Given the description of an element on the screen output the (x, y) to click on. 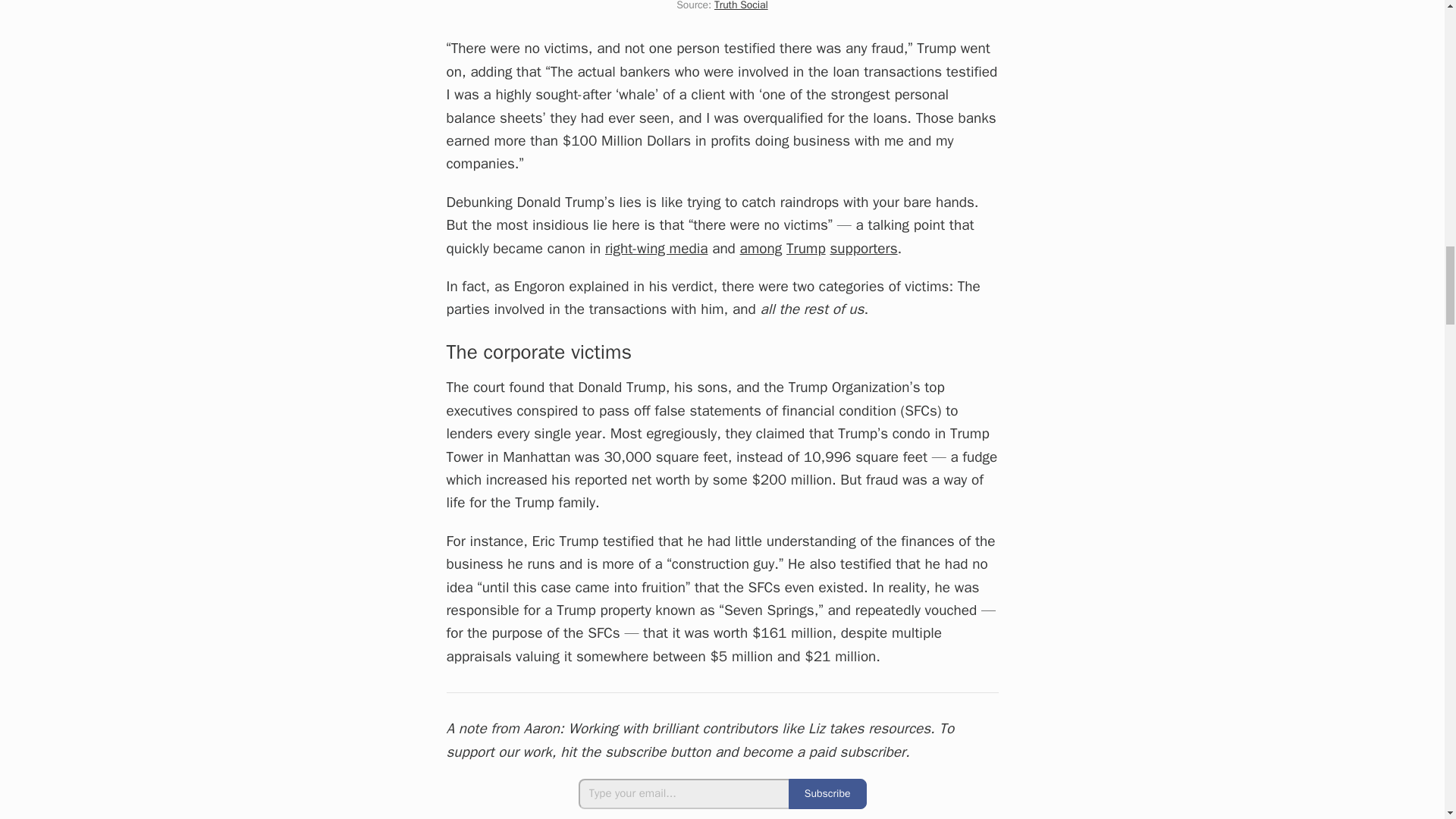
right-wing media (656, 248)
Subscribe (827, 793)
Trump (805, 248)
among (761, 248)
supporters (862, 248)
Truth Social (741, 5)
